Given the description of an element on the screen output the (x, y) to click on. 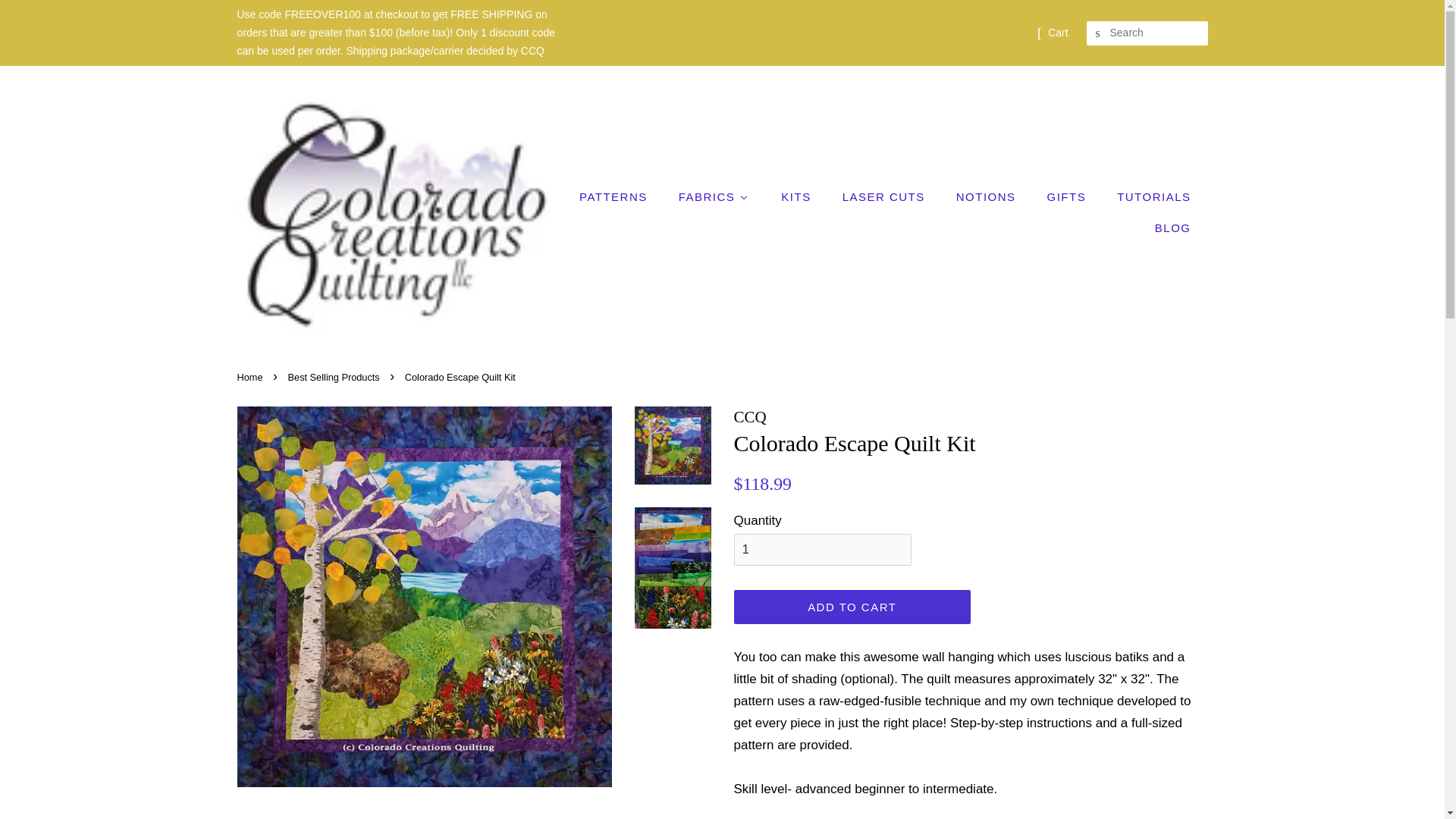
Back to the home page (250, 377)
SEARCH (1097, 33)
Cart (1057, 33)
1 (822, 549)
